Given the description of an element on the screen output the (x, y) to click on. 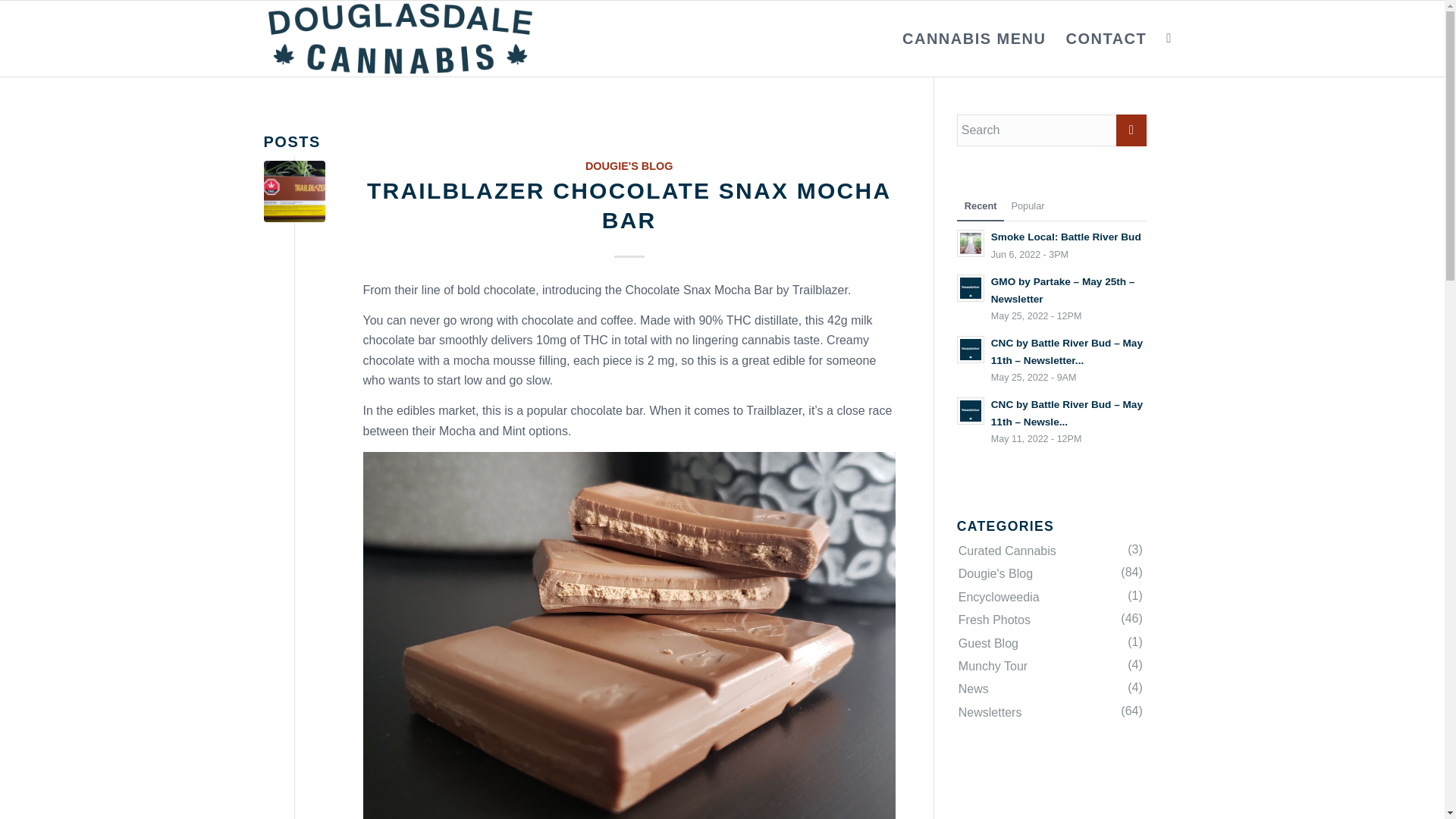
Guest Blog (1049, 643)
Fresh Photos (1049, 620)
Munchy Tour (1051, 244)
Curated Cannabis (1049, 666)
Smoke Local: Battle River Bud (1049, 550)
TRAILBLAZER CHOCOLATE SNAX MOCHA BAR (1051, 244)
DOUGIE'S BLOG (628, 205)
Permanent Link: Trailblazer Chocolate Snax Mocha Bar (628, 165)
CONTACT (628, 205)
CANNABIS MENU (1105, 38)
News (974, 38)
Dougie's Blog (1049, 689)
Encycloweedia (1049, 573)
Trailblazer1 (1049, 597)
